Given the description of an element on the screen output the (x, y) to click on. 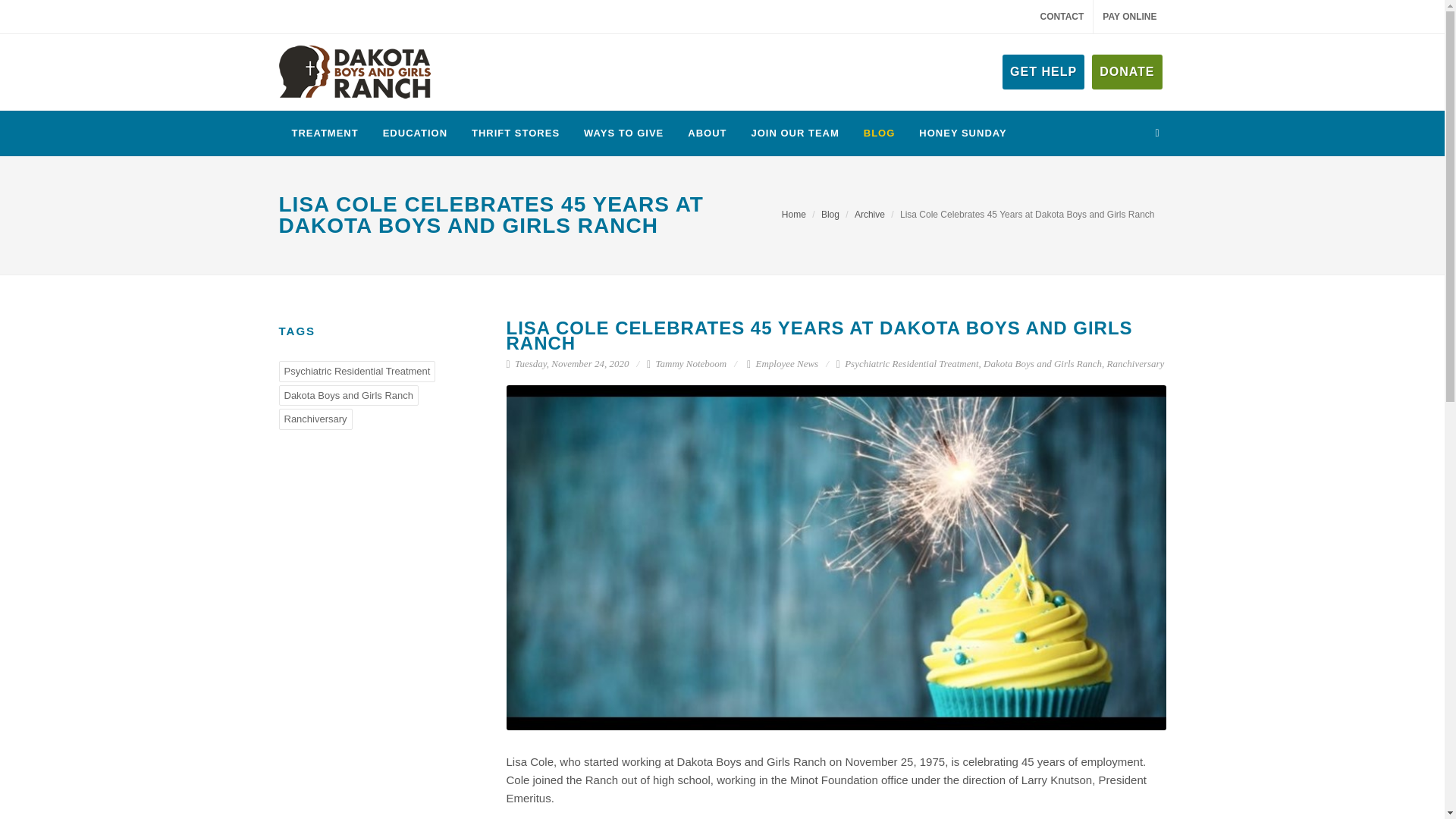
Contact (1061, 16)
EDUCATION (414, 133)
Blog (830, 214)
BLOG (879, 133)
Home (793, 214)
GET HELP (1043, 71)
THRIFT STORES (515, 133)
CONTACT (1061, 16)
ABOUT (707, 133)
PAY ONLINE (1129, 16)
